Given the description of an element on the screen output the (x, y) to click on. 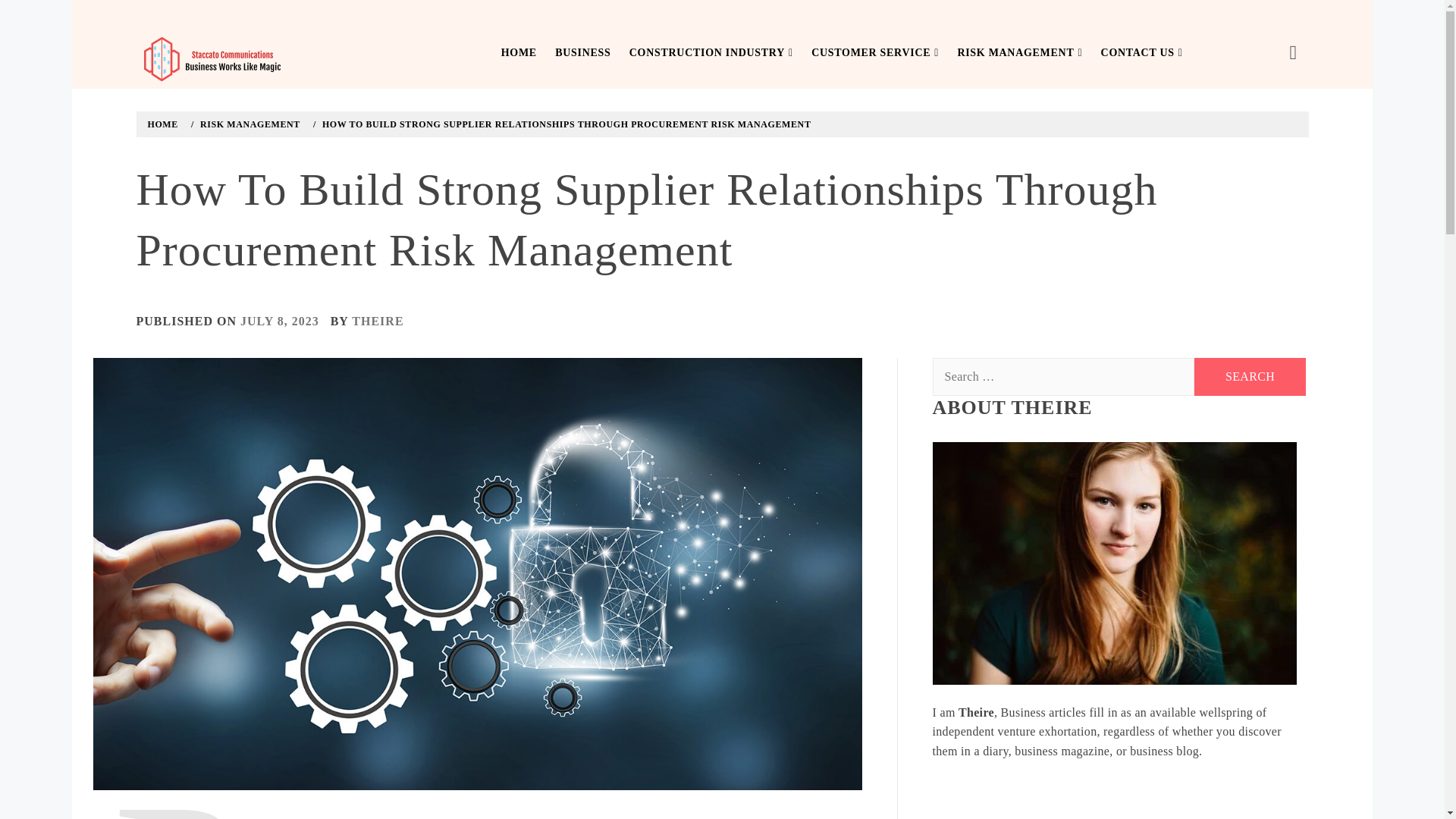
Search (1249, 376)
HOME (518, 53)
Search (1249, 376)
CUSTOMER SERVICE (874, 53)
BUSINESS (582, 53)
CONTACT US (1142, 53)
RISK MANAGEMENT (1019, 53)
HOME (165, 123)
THEIRE (377, 320)
RISK MANAGEMENT (247, 123)
STACCATO COMMUNICATIONS (198, 91)
JULY 8, 2023 (279, 320)
Search (646, 37)
